Given the description of an element on the screen output the (x, y) to click on. 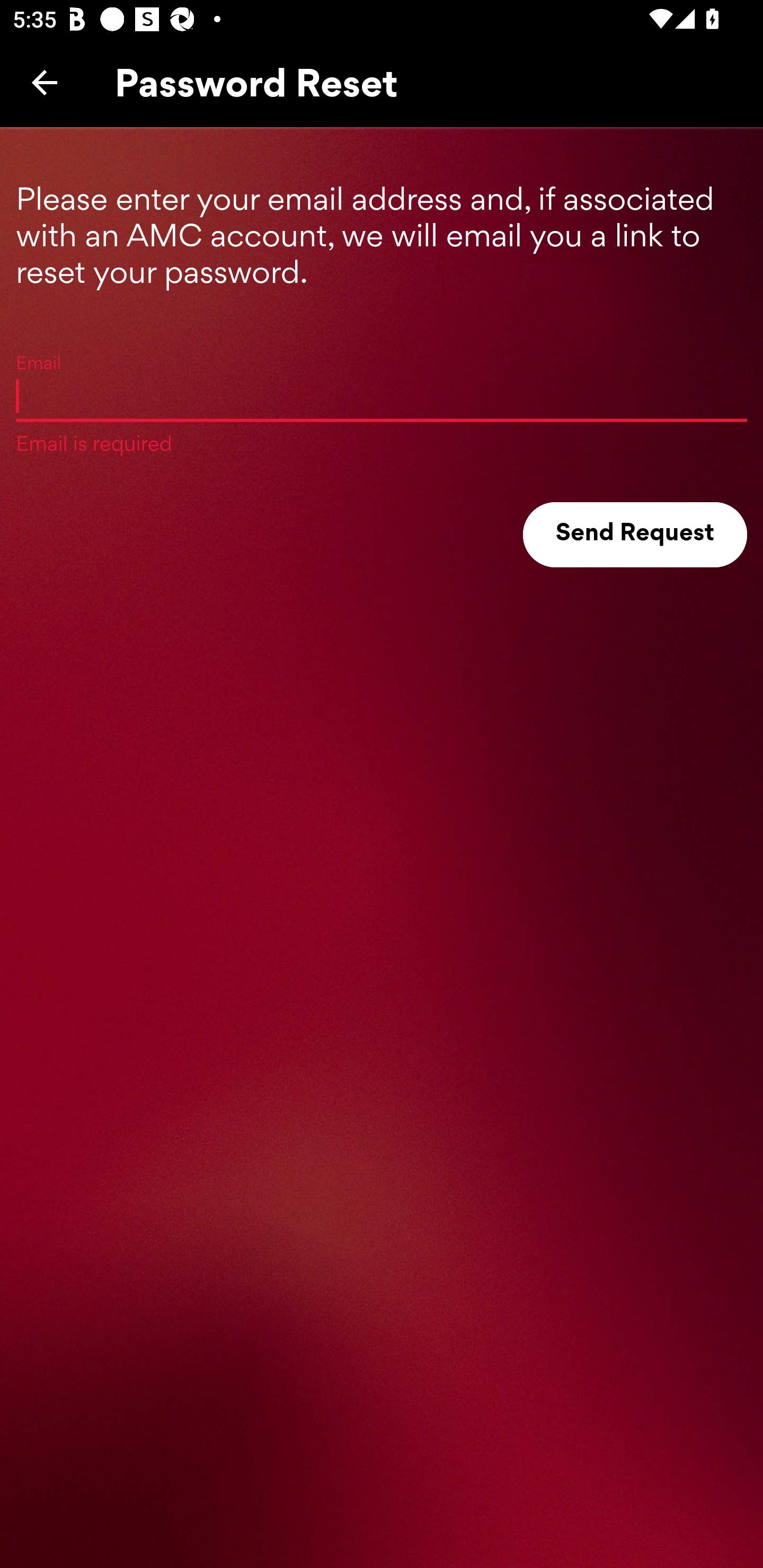
Back (44, 82)
Email is required (381, 394)
Send Request (634, 535)
